Given the description of an element on the screen output the (x, y) to click on. 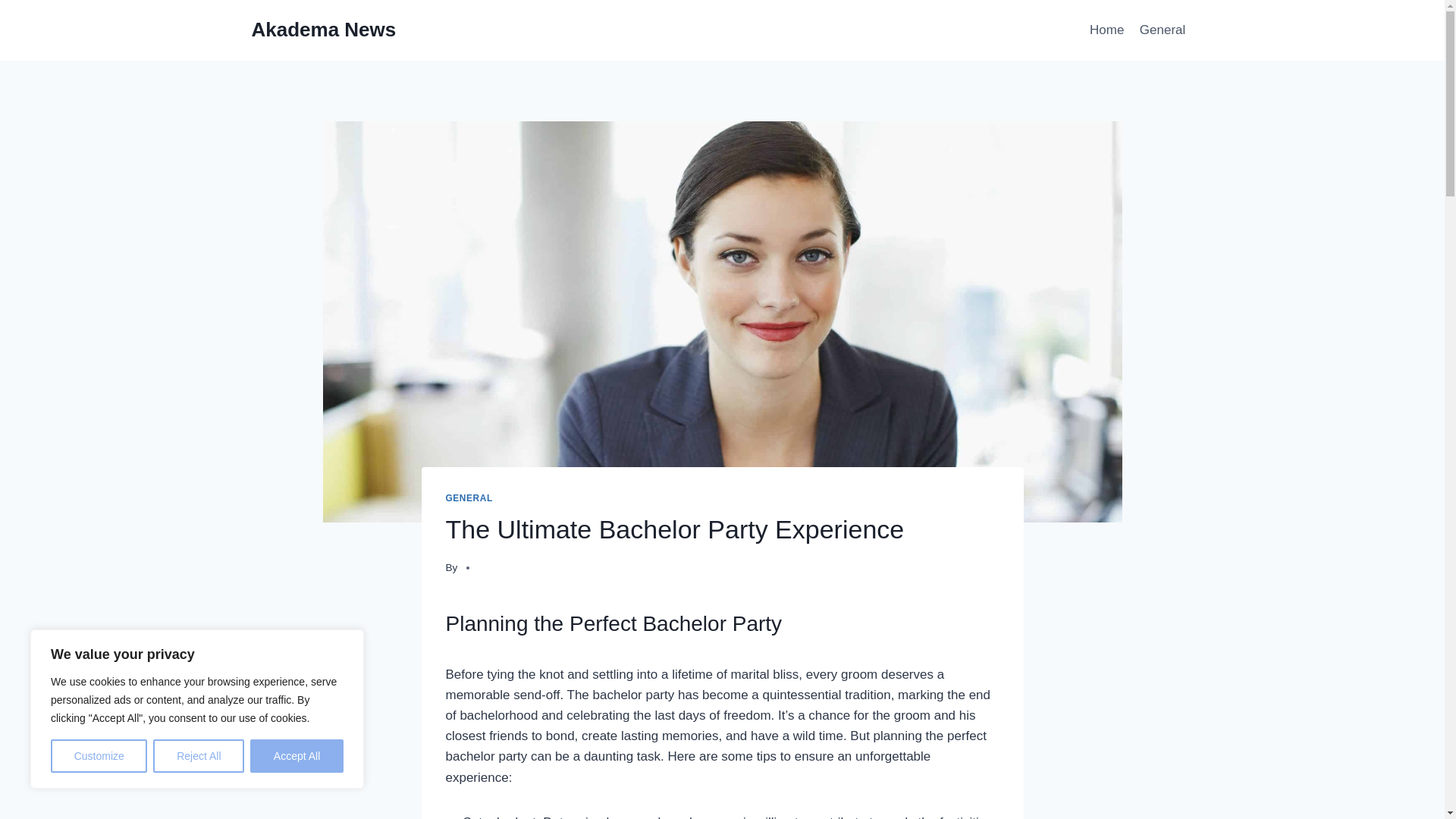
Reject All (198, 756)
Akadema News (323, 29)
Accept All (296, 756)
General (1162, 30)
Home (1106, 30)
Customize (98, 756)
GENERAL (469, 498)
